Given the description of an element on the screen output the (x, y) to click on. 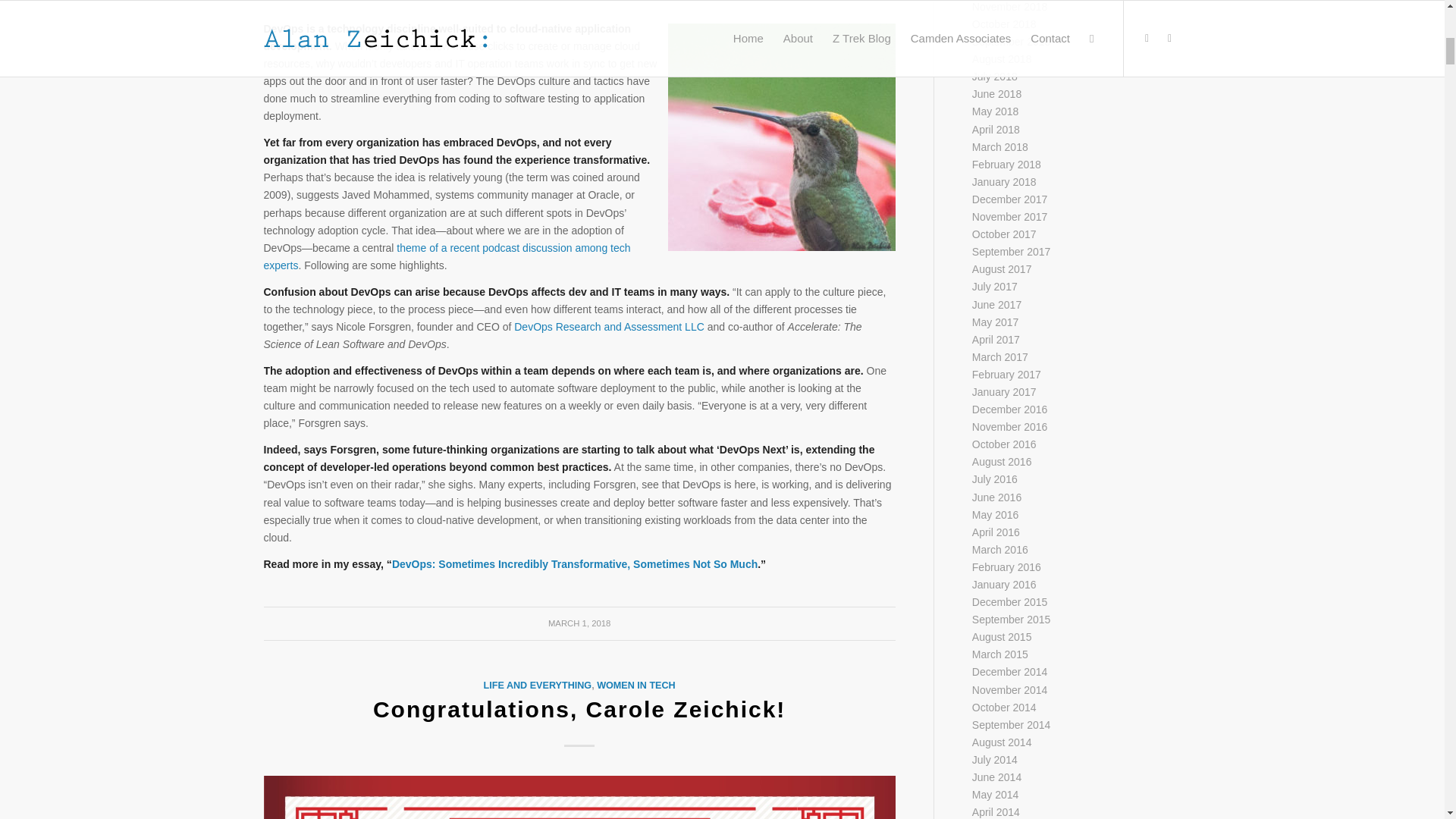
theme of a recent podcast discussion among tech experts (446, 256)
Permanent Link: Congratulations, Carole Zeichick! (579, 708)
DevOps Research and Assessment LLC (608, 326)
Congratulations, Carole Zeichick! (579, 708)
LIFE AND EVERYTHING (537, 685)
WOMEN IN TECH (635, 685)
